Given the description of an element on the screen output the (x, y) to click on. 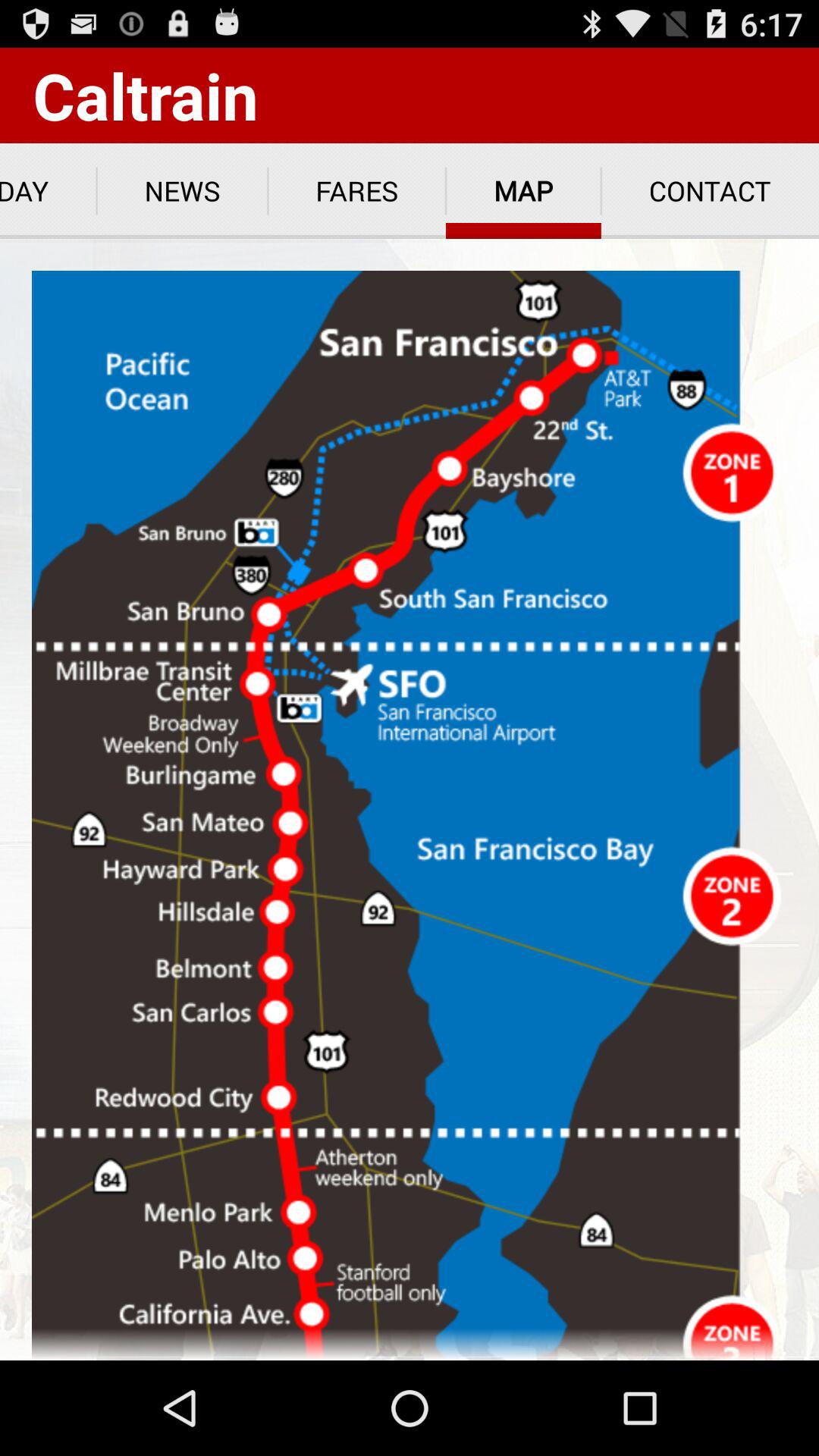
select icon to the left of news app (48, 190)
